Given the description of an element on the screen output the (x, y) to click on. 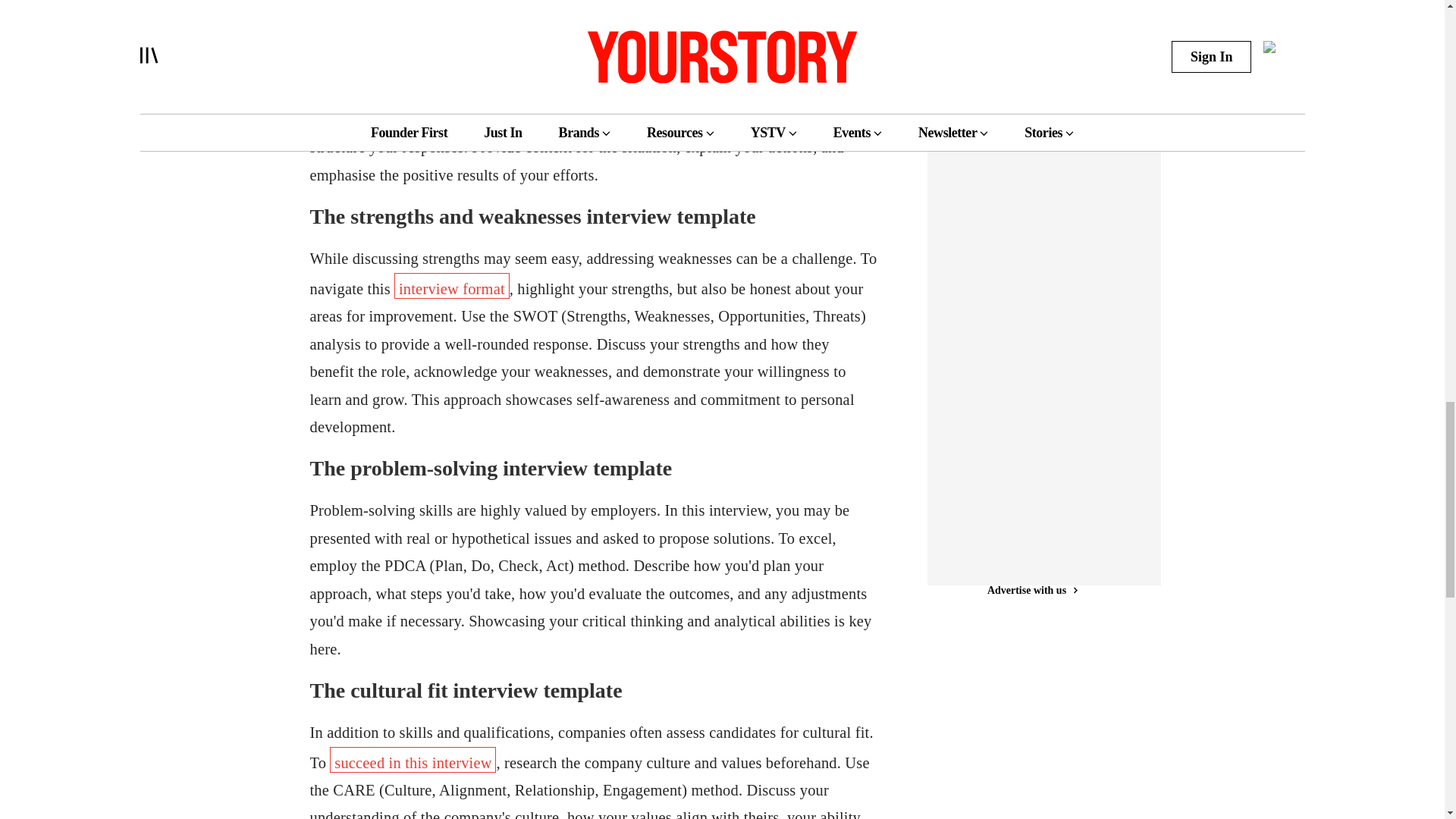
interview format (451, 285)
succeed in this interview (413, 759)
NEWS (970, 10)
interviews focus on specific skills (547, 61)
